Given the description of an element on the screen output the (x, y) to click on. 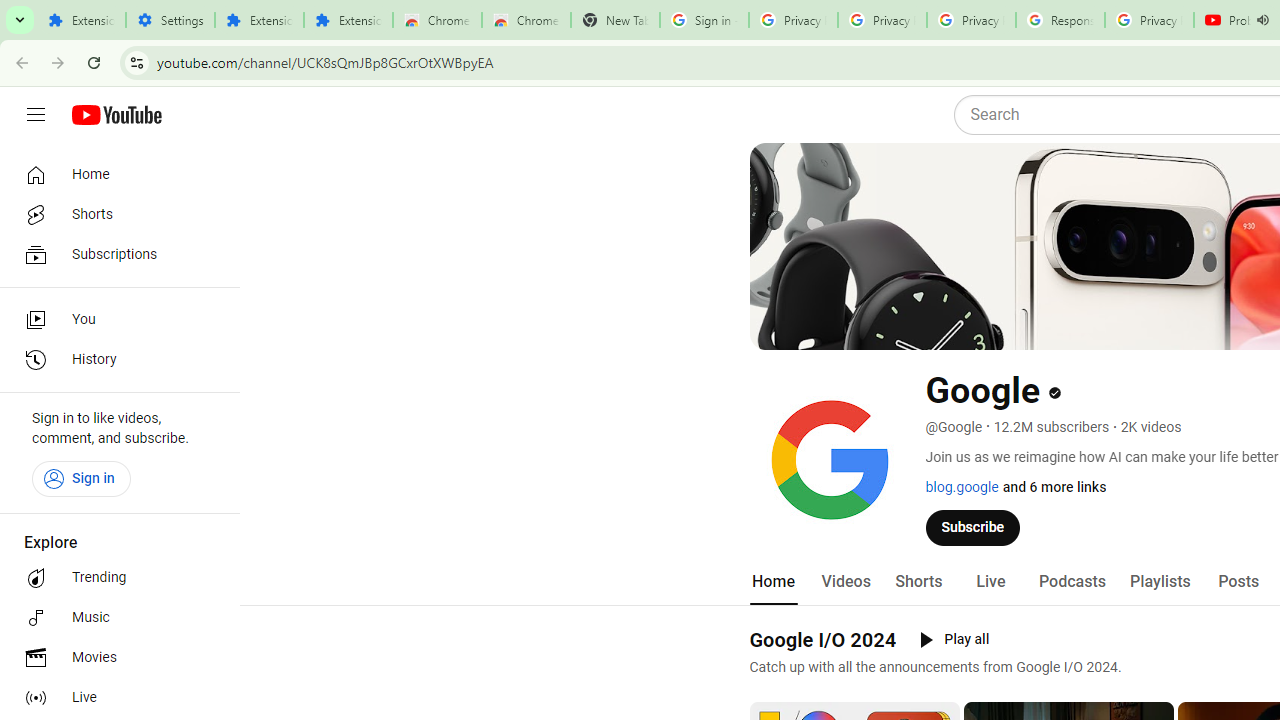
YouTube Home (116, 115)
Shorts (113, 214)
Back (19, 62)
Extensions (81, 20)
Extensions (347, 20)
Playlists (1160, 581)
Sign in - Google Accounts (704, 20)
Guide (35, 115)
Sign in (81, 478)
Videos (845, 581)
Posts (1238, 581)
History (113, 359)
Music (113, 617)
